Given the description of an element on the screen output the (x, y) to click on. 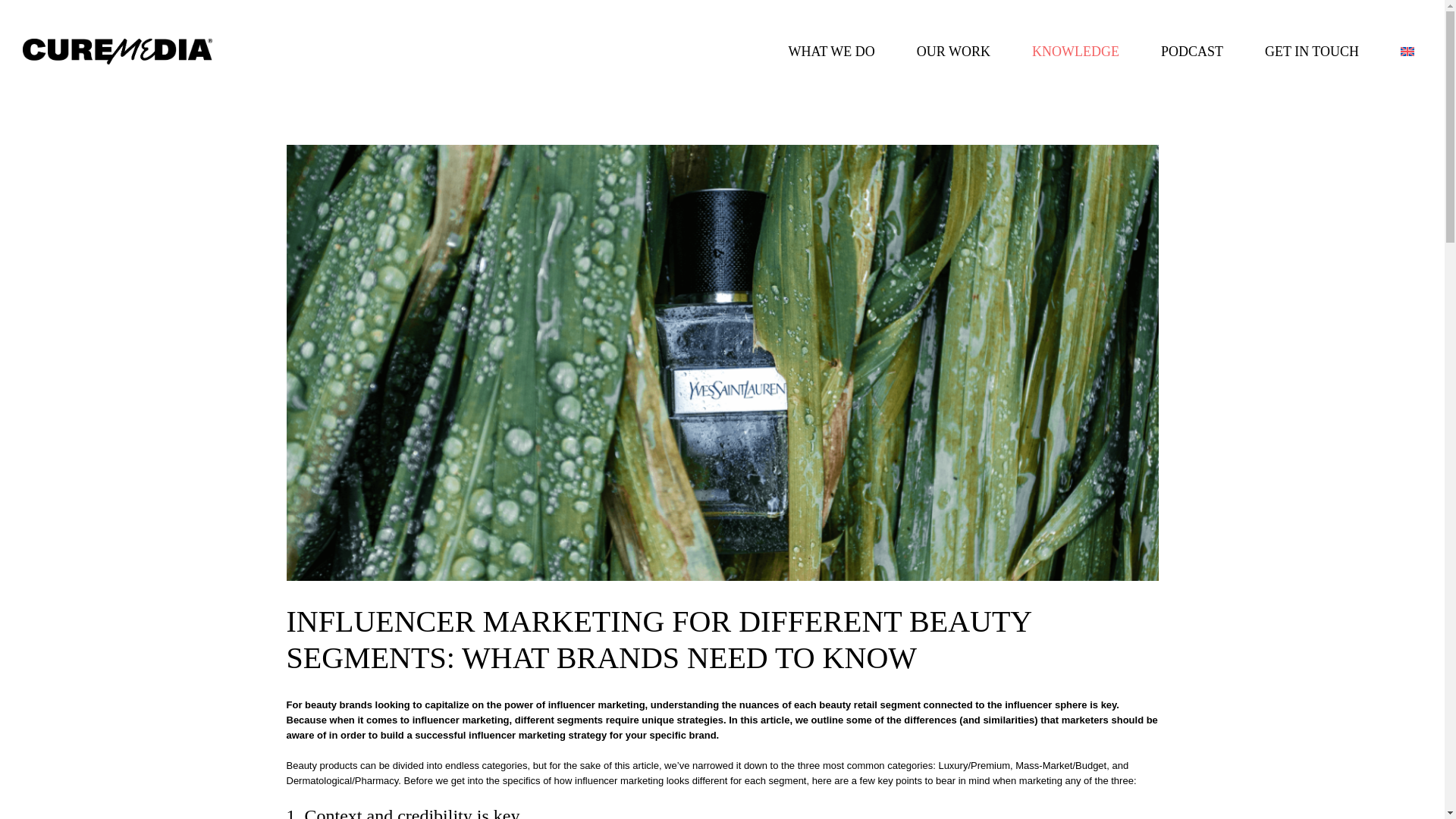
WHAT WE DO (831, 51)
GET IN TOUCH (1312, 51)
OUR WORK (952, 51)
PODCAST (1191, 51)
KNOWLEDGE (1075, 51)
